Given the description of an element on the screen output the (x, y) to click on. 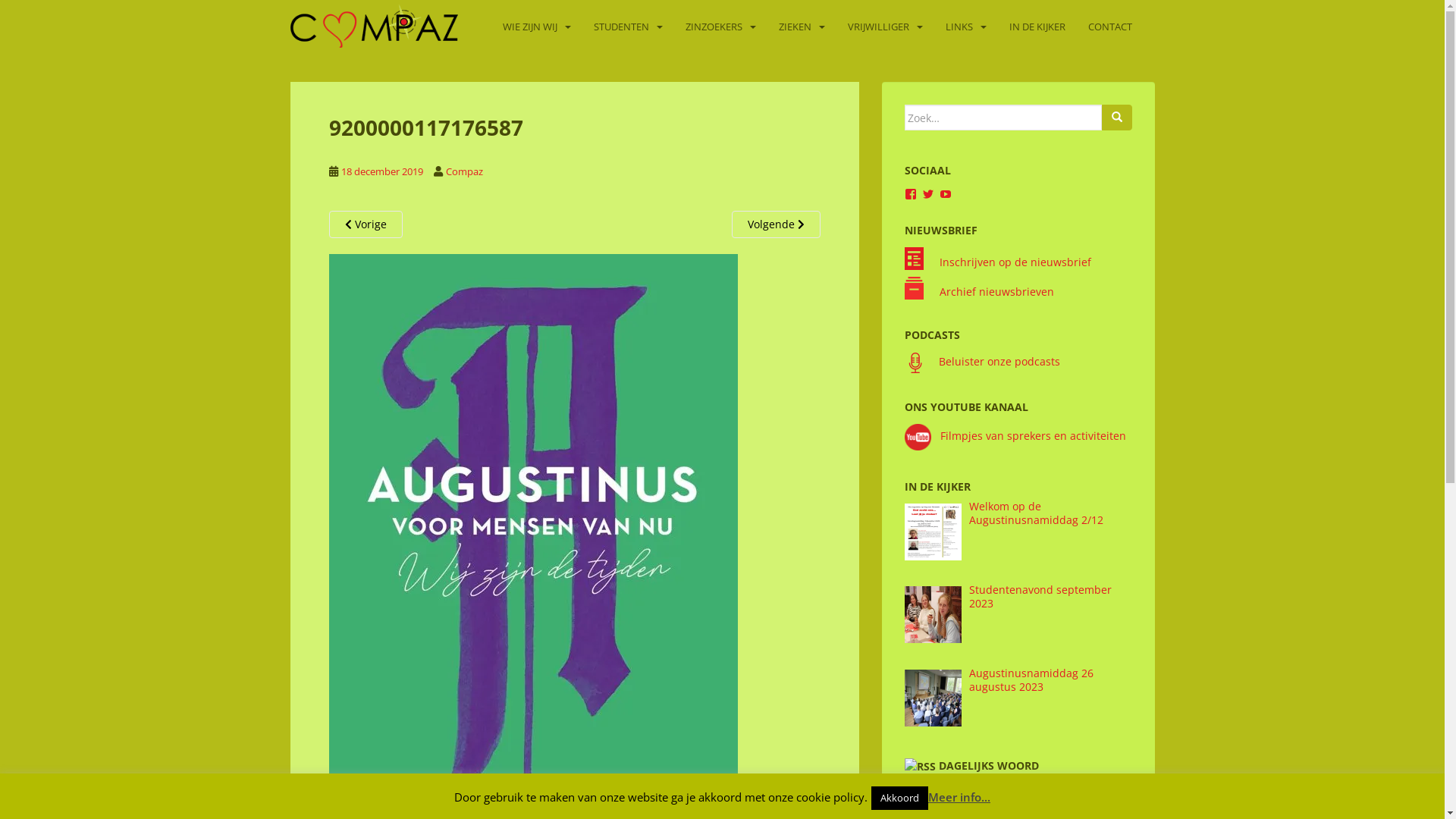
vrijdag 24 november 2023 - Job 28:28 Element type: text (997, 794)
   Filmpjes van sprekers en activiteiten Element type: text (1014, 435)
Welkom op de Augustinusnamiddag 2/12 Element type: text (1036, 512)
Inschrijven op de nieuwsbrief Element type: text (1014, 261)
Augustinusnamiddag 26 augustus 2023 Element type: text (1031, 679)
CONTACT Element type: text (1109, 24)
Archief nieuwsbrieven Element type: text (995, 291)
IN DE KIJKER Element type: text (1036, 24)
18 december 2019 Element type: text (382, 171)
Vorige Element type: text (365, 224)
Facebook Element type: text (909, 194)
LINKS Element type: text (958, 24)
STUDENTEN Element type: text (620, 24)
9200000117176587 Element type: hover (533, 570)
Twitter Element type: text (928, 194)
Studentenavond september 2023 Element type: text (1040, 596)
VRIJWILLIGER Element type: text (878, 24)
Zoeken Element type: text (1116, 117)
Zoeken naar: Element type: hover (1002, 117)
Volgende Element type: text (775, 224)
YouTube Element type: text (944, 194)
DAGELIJKS WOORD Element type: text (988, 765)
Meer info... Element type: text (959, 796)
ZIEKEN Element type: text (794, 24)
ZINZOEKERS Element type: text (713, 24)
Beluister onze podcasts Element type: text (999, 361)
Compaz Element type: text (464, 171)
Akkoord Element type: text (899, 797)
WIE ZIJN WIJ Element type: text (529, 24)
